Given the description of an element on the screen output the (x, y) to click on. 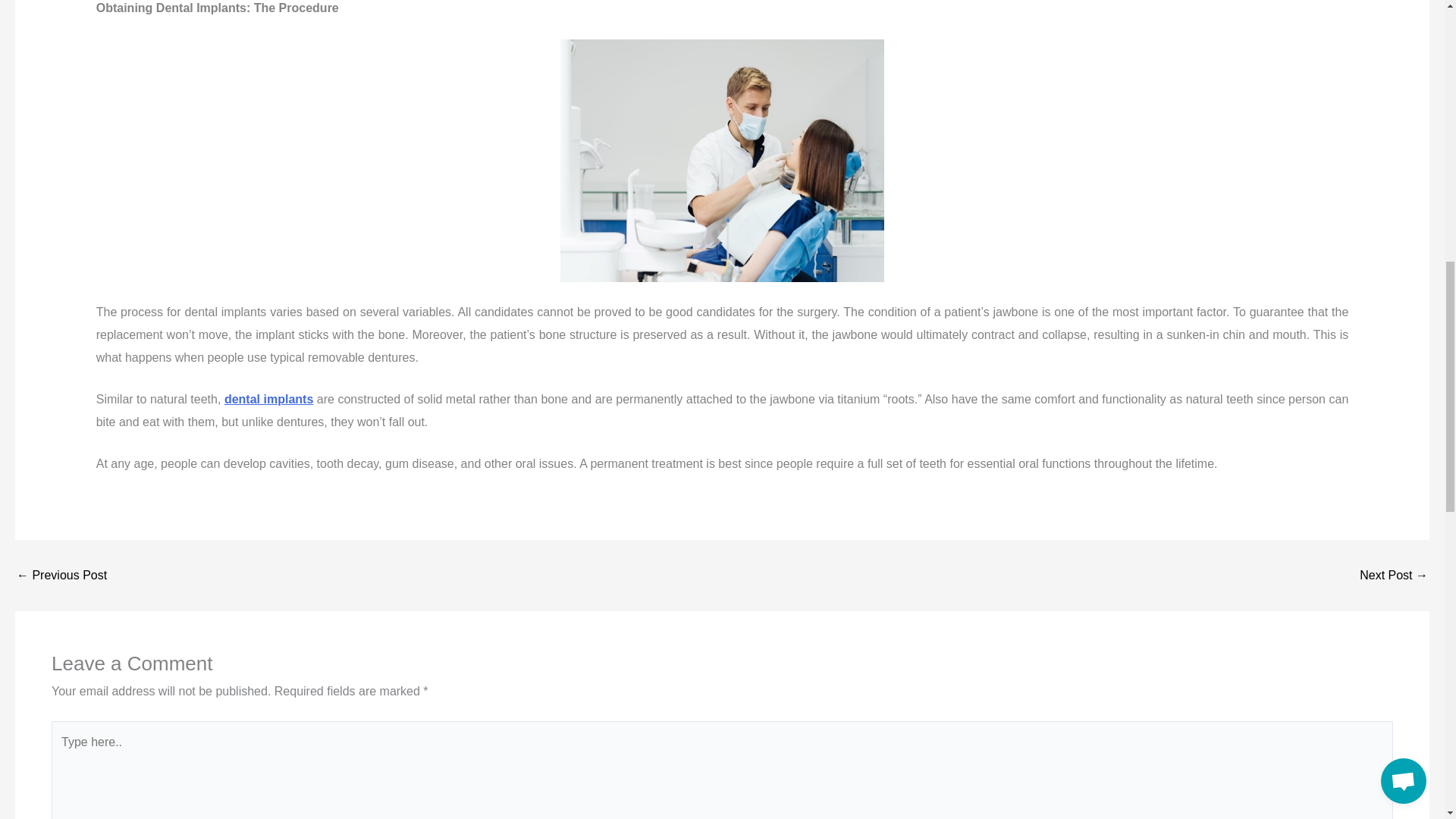
What Exactly Is Porcelain Veneer Treatment? (1393, 575)
What Should You Expect When You Get Braces? (61, 575)
